Given the description of an element on the screen output the (x, y) to click on. 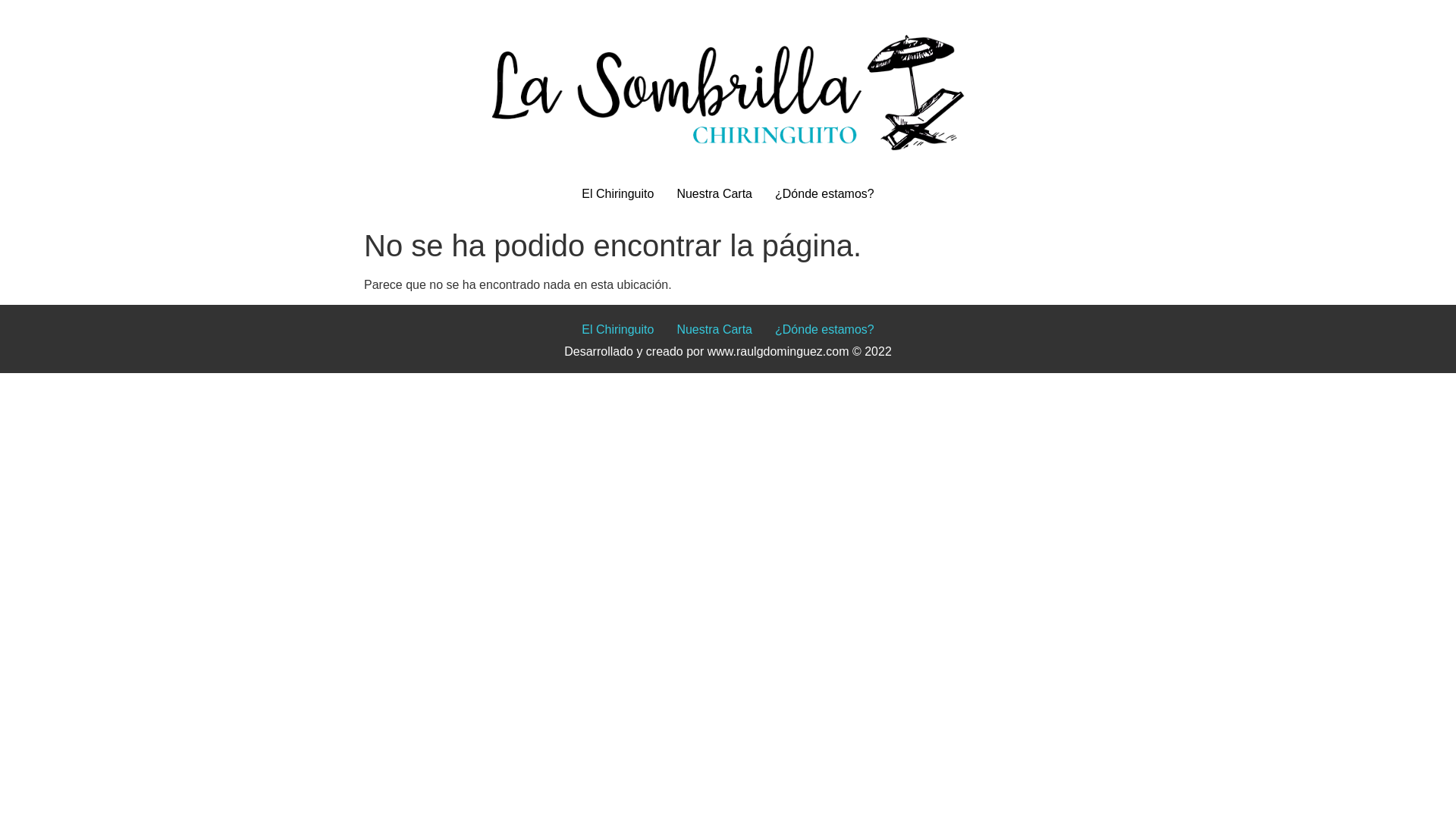
El Chiringuito (617, 194)
El Chiringuito (617, 329)
Nuestra Carta (713, 329)
Nuestra Carta (713, 194)
